Given the description of an element on the screen output the (x, y) to click on. 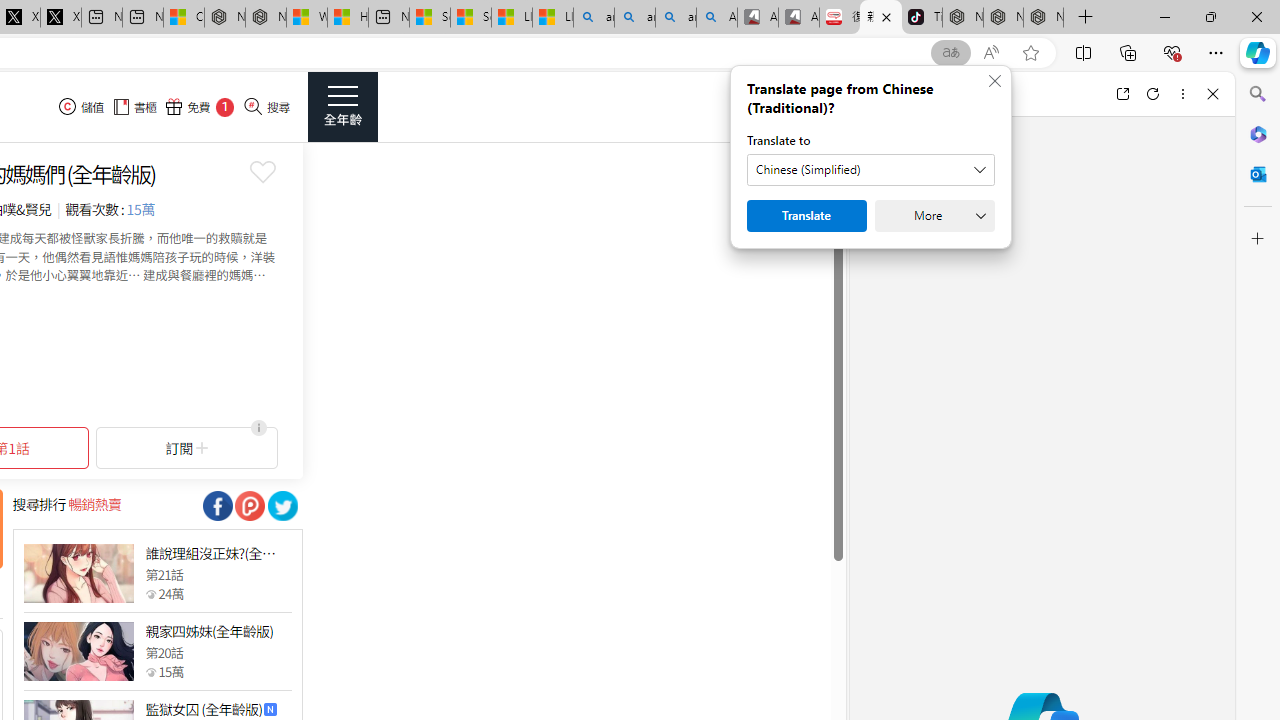
Nordace - Best Sellers (963, 17)
Search (1258, 94)
